Given the description of an element on the screen output the (x, y) to click on. 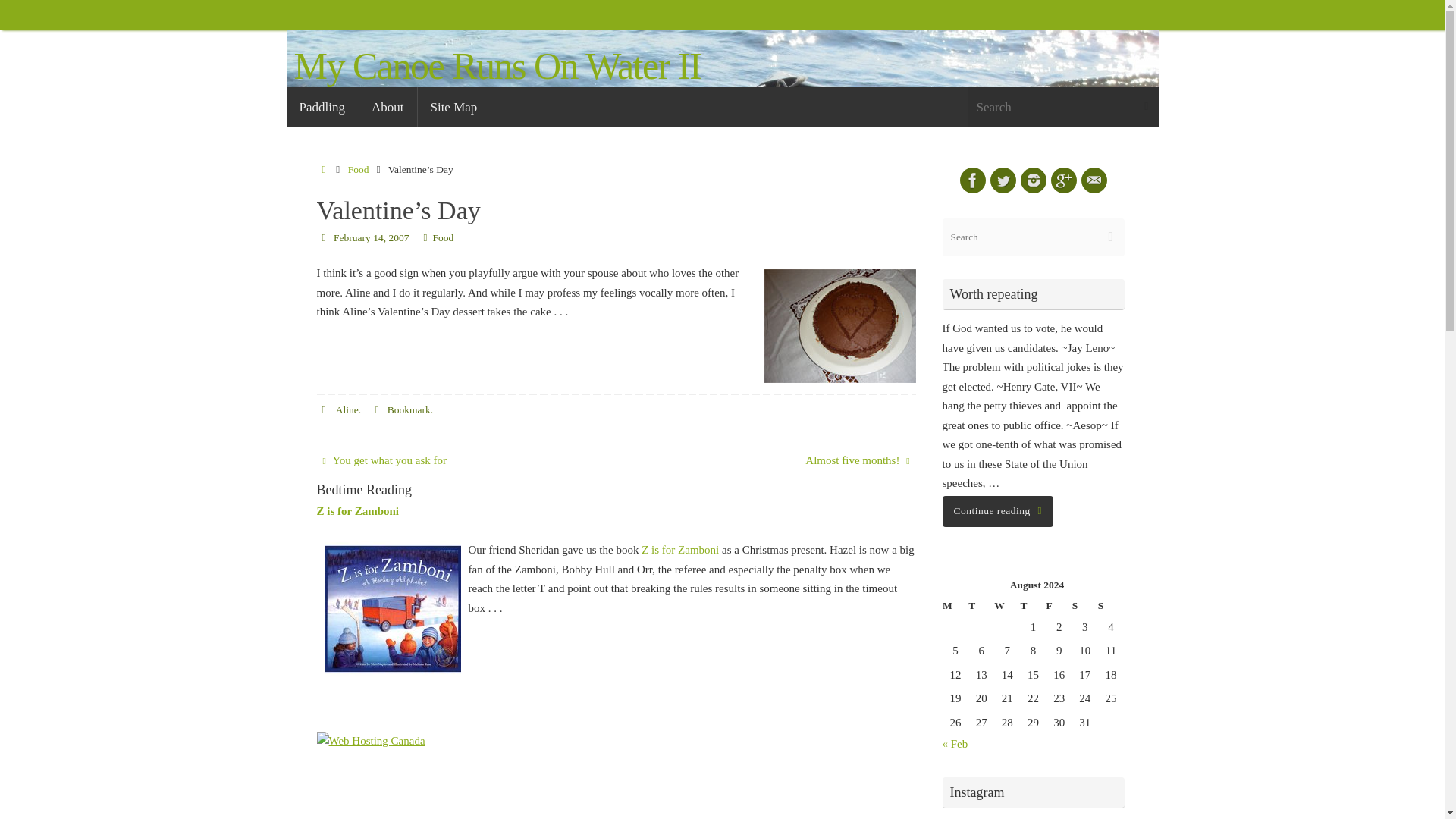
GooglePlus (1064, 180)
Bookmark (408, 409)
Site Map (453, 106)
My Canoe Runs On Water II (497, 65)
Date (324, 237)
Z is for Zamboni (357, 510)
Almost five months! (774, 461)
Food (358, 169)
About (387, 106)
Aline (347, 409)
